Given the description of an element on the screen output the (x, y) to click on. 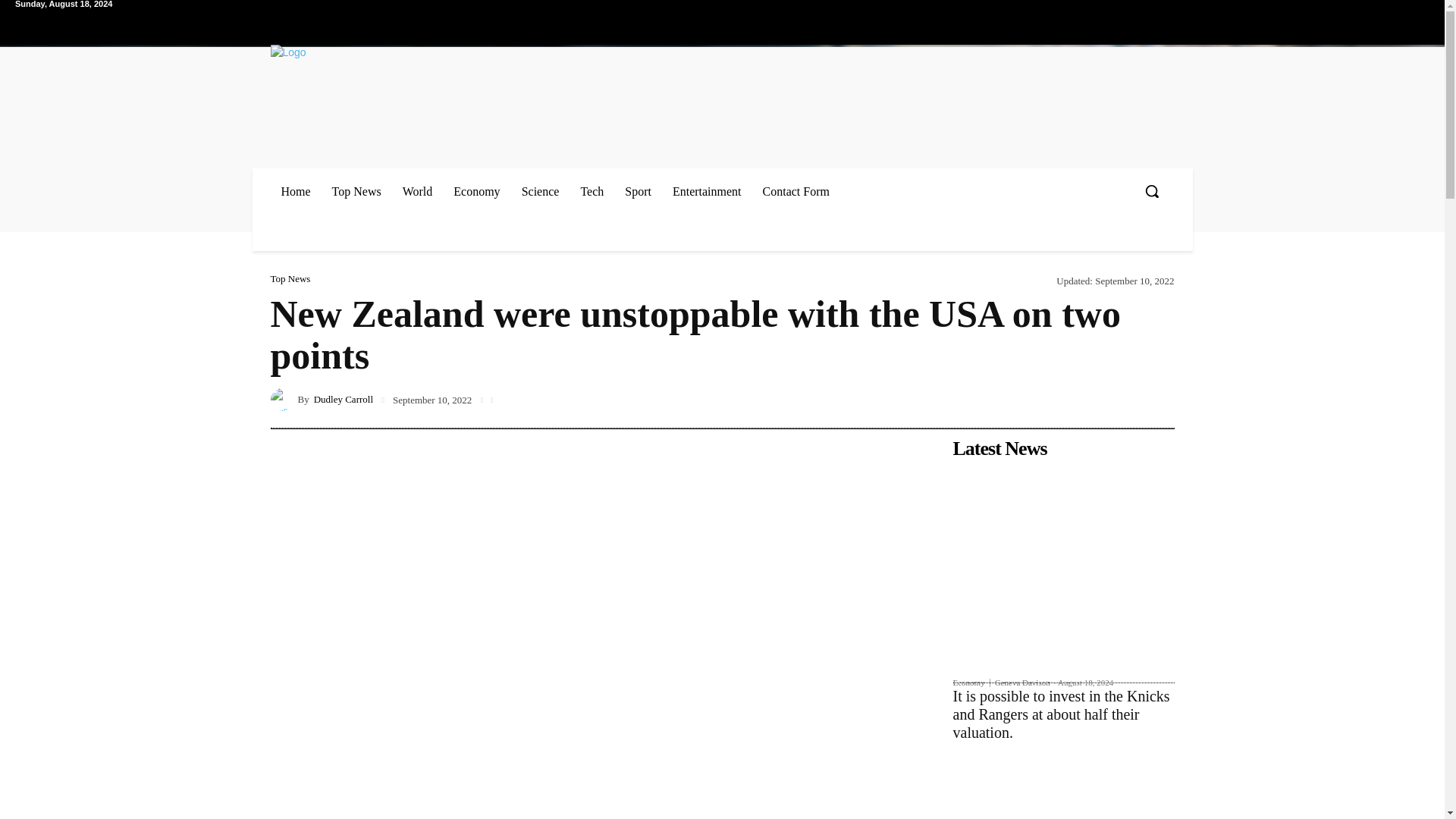
Dudley Carroll (343, 398)
Economy (476, 191)
Sport (638, 191)
World (417, 191)
Home (294, 191)
Dudley Carroll (283, 399)
Tech (591, 191)
Contact Form (796, 191)
